Given the description of an element on the screen output the (x, y) to click on. 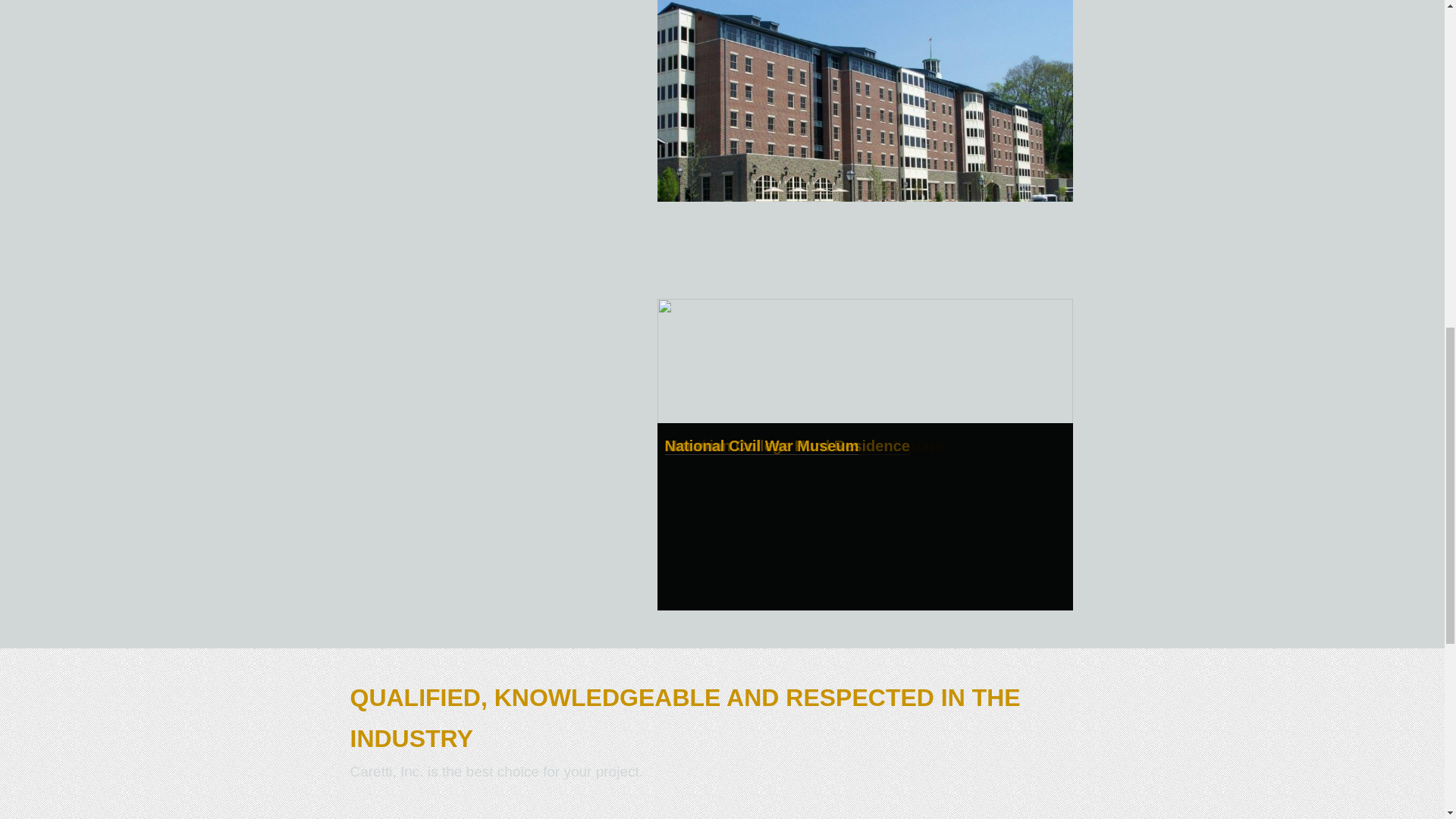
Moravian College Hurd Residence (785, 446)
Cabelas (692, 446)
National Civil War Museum (761, 446)
The Museum at Chocolatetown Square (803, 446)
